Given the description of an element on the screen output the (x, y) to click on. 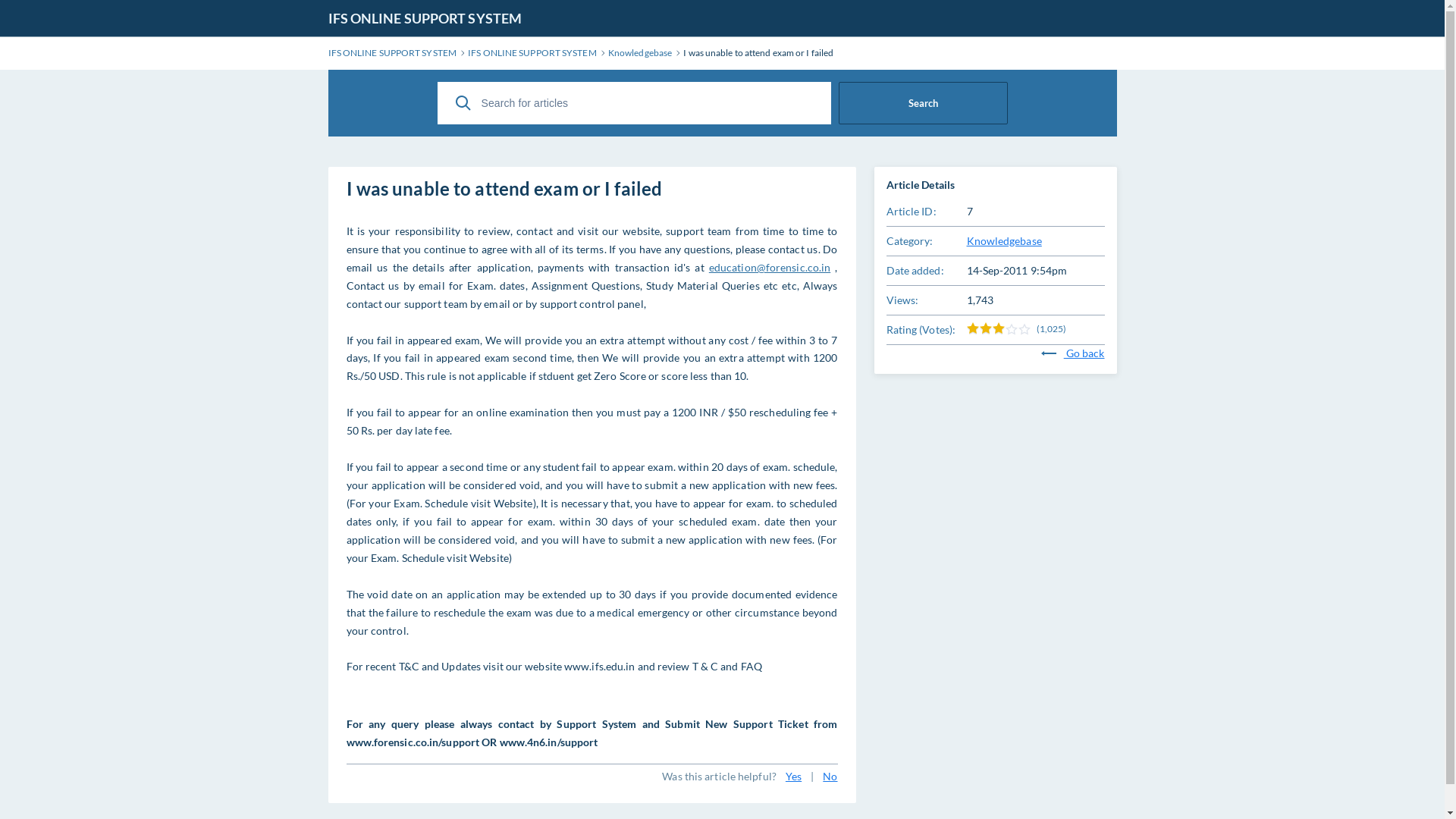
Yes Element type: text (793, 776)
Search Element type: text (922, 102)
IFS ONLINE SUPPORT SYSTEM Element type: text (391, 52)
Knowledgebase Element type: text (1003, 240)
IFS ONLINE SUPPORT SYSTEM Element type: text (424, 17)
IFS ONLINE SUPPORT SYSTEM Element type: text (531, 52)
Knowledgebase Element type: text (639, 52)
Go back Element type: text (1072, 352)
No Element type: text (829, 776)
education@forensic.co.in Element type: text (769, 266)
